Given the description of an element on the screen output the (x, y) to click on. 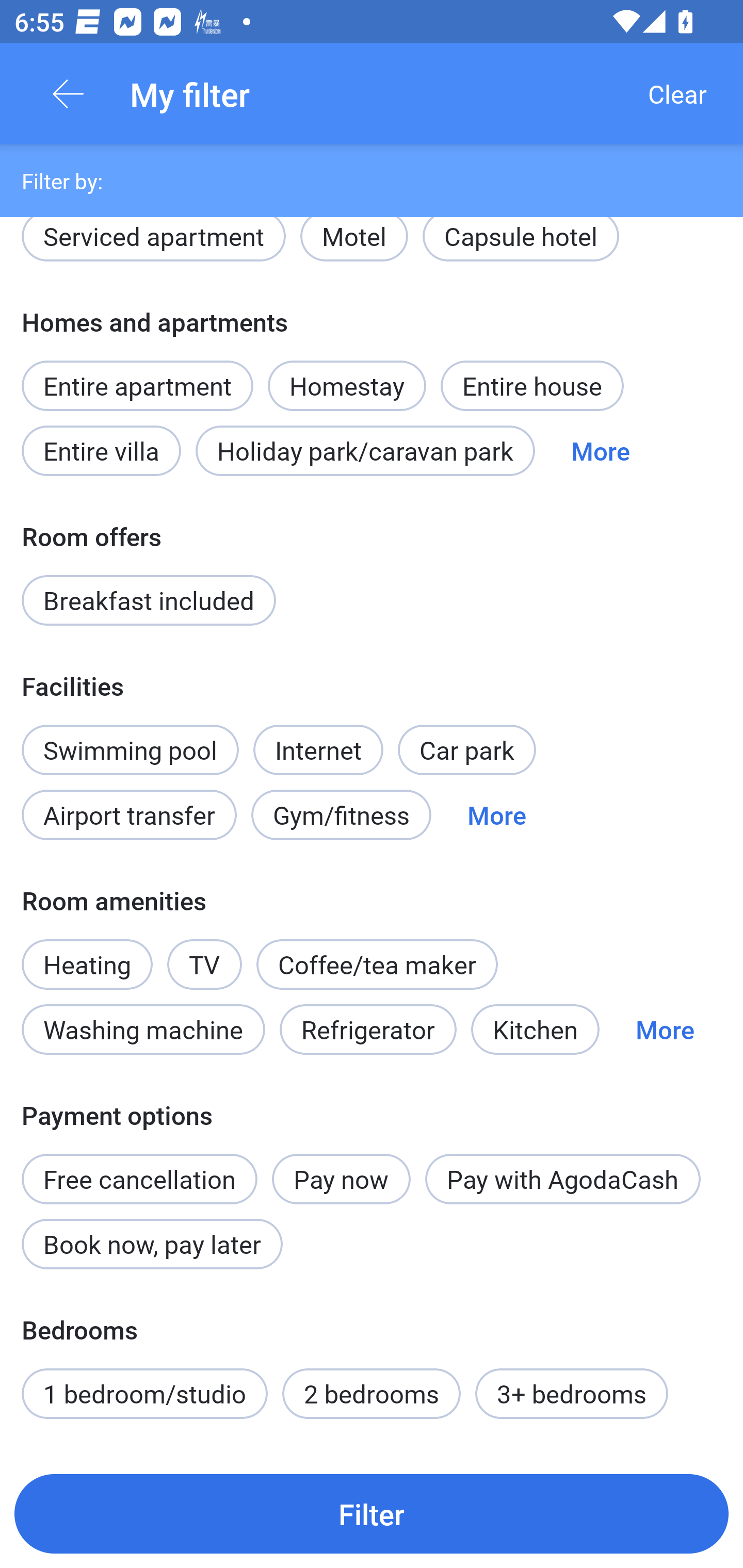
Clear (676, 93)
Serviced apartment (153, 247)
Motel (353, 247)
Capsule hotel (520, 247)
Entire apartment (137, 385)
Homestay (346, 374)
Entire house (532, 385)
Entire villa (101, 450)
Holiday park/caravan park (364, 450)
More (600, 450)
Breakfast included (148, 600)
Swimming pool (130, 750)
Internet (318, 739)
Car park (466, 750)
Airport transfer (129, 814)
Gym/fitness (341, 814)
More (496, 814)
Heating (87, 953)
TV (204, 953)
Coffee/tea maker (376, 964)
Washing machine (143, 1029)
Refrigerator (367, 1029)
Kitchen (535, 1029)
More (664, 1029)
Free cancellation (139, 1168)
Pay now (340, 1179)
Pay with AgodaCash (562, 1179)
Book now, pay later (152, 1244)
1 bedroom/studio (144, 1393)
2 bedrooms (371, 1393)
3+ bedrooms (571, 1393)
Filter (371, 1513)
